Given the description of an element on the screen output the (x, y) to click on. 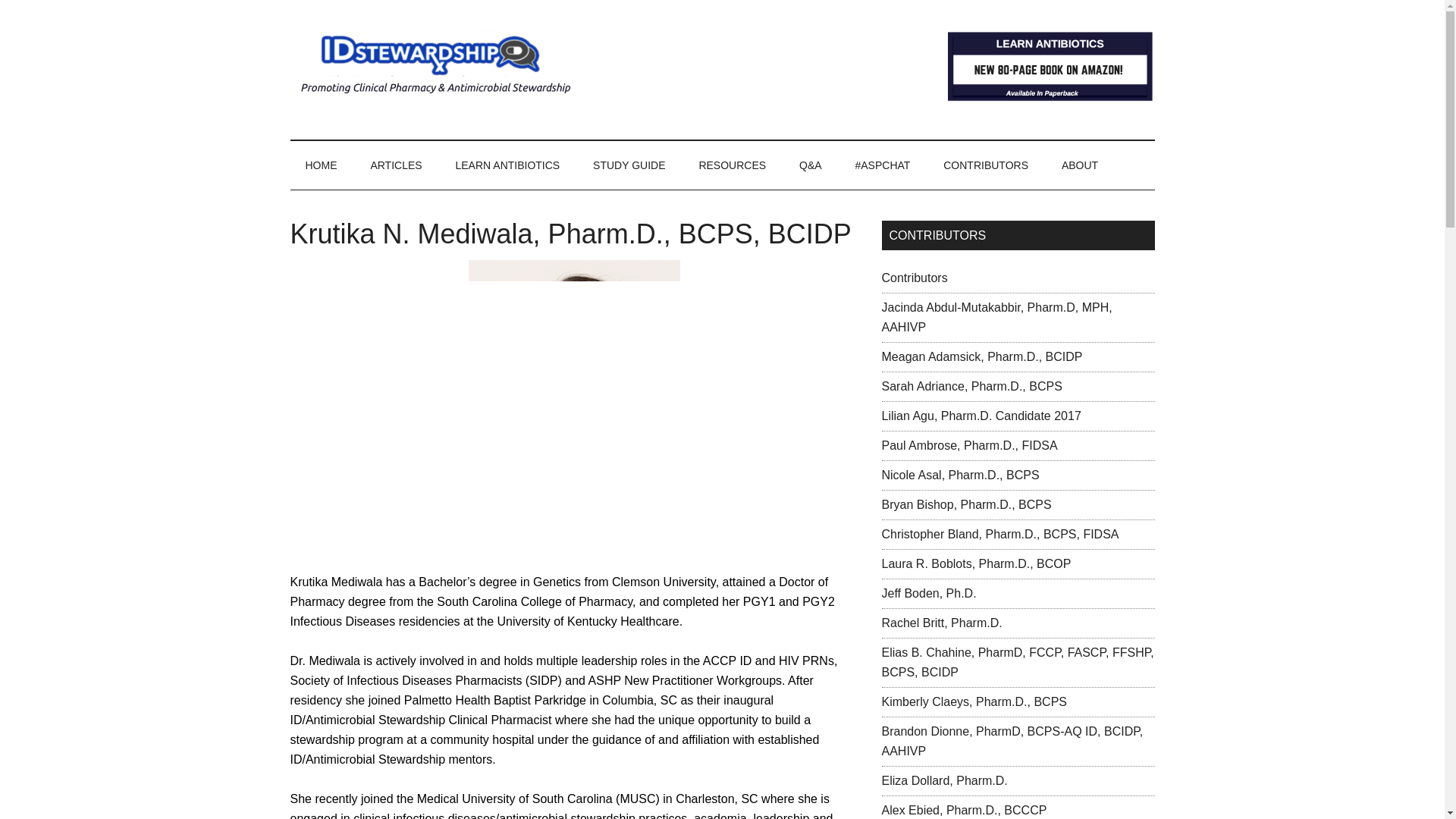
Eliza Dollard, Pharm.D. (943, 780)
Jeff Boden, Ph.D. (927, 593)
Elias B. Chahine, PharmD, FCCP, FASCP, FFSHP, BCPS, BCIDP (1016, 662)
Alex Ebied, Pharm.D., BCCCP (963, 809)
Sarah Adriance, Pharm.D., BCPS (970, 386)
Rachel Britt, Pharm.D. (940, 622)
ABOUT (1079, 164)
Paul Ambrose, Pharm.D., FIDSA (968, 445)
CONTRIBUTORS (985, 164)
HOME (320, 164)
